Given the description of an element on the screen output the (x, y) to click on. 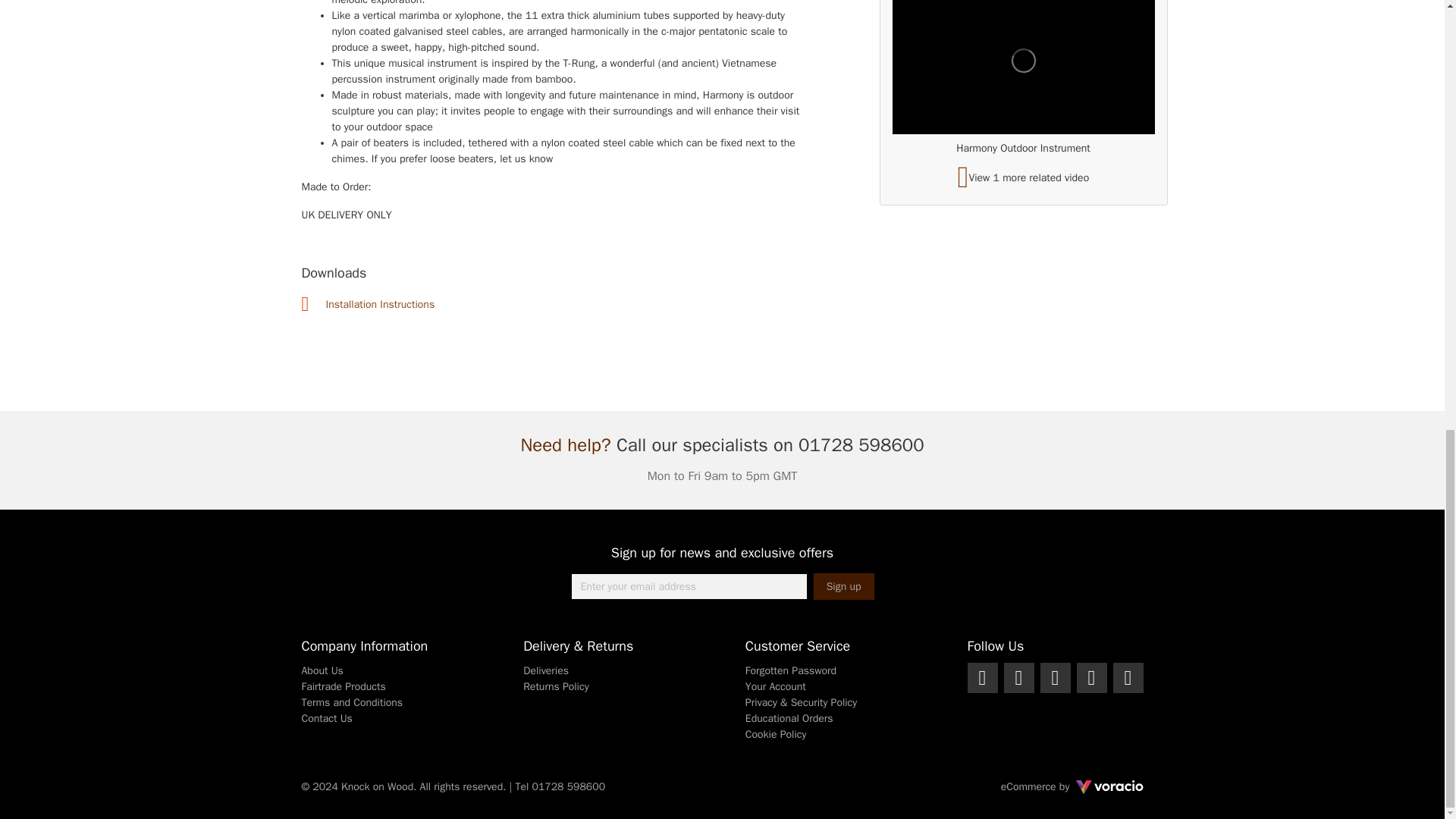
YouTube channel (1091, 677)
Facebook profile (982, 677)
Twitter profile (1018, 677)
Pinterest profile (1127, 677)
Instagram profile (1055, 677)
